Given the description of an element on the screen output the (x, y) to click on. 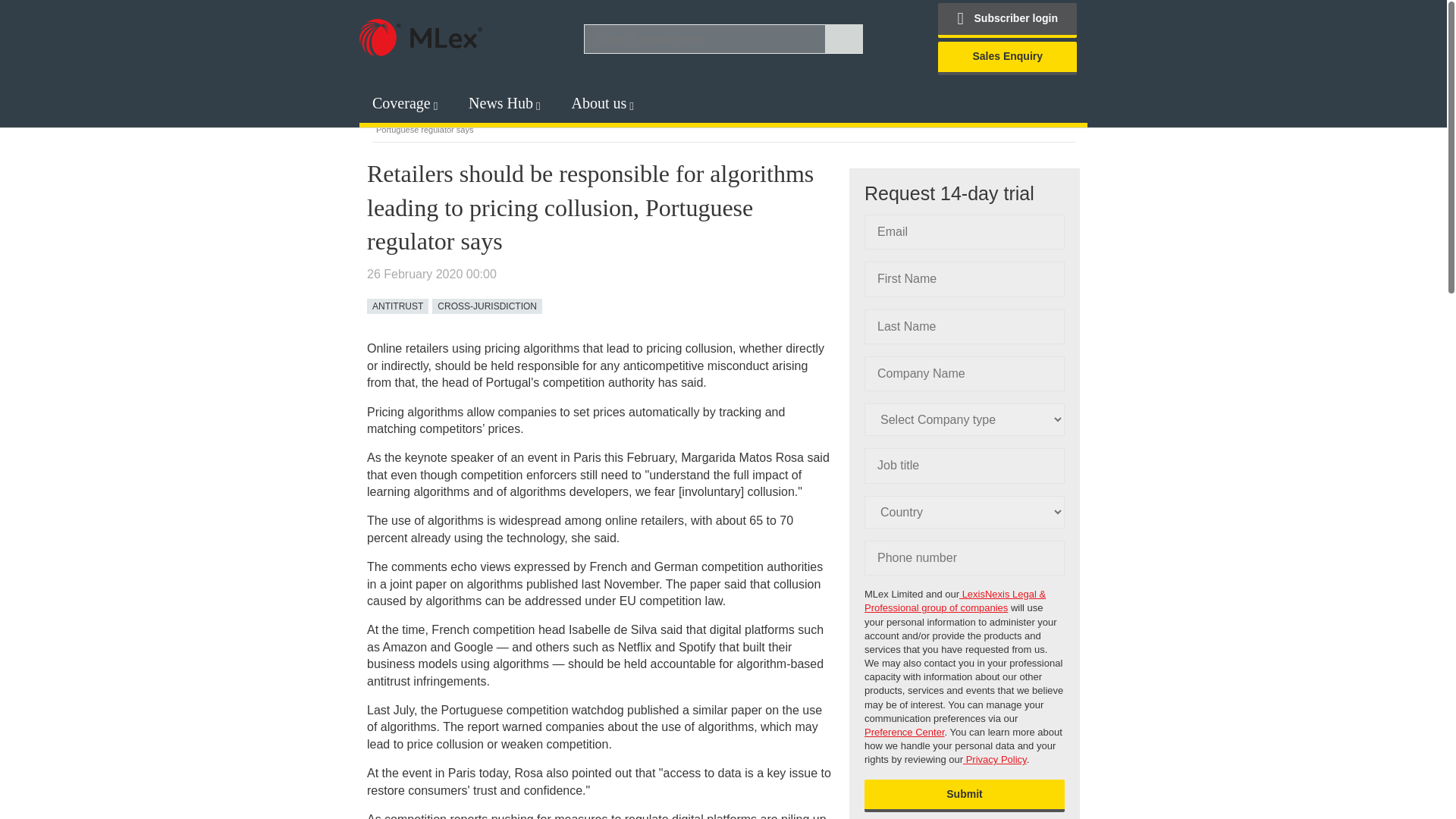
Search (844, 38)
News Hub (500, 103)
Submit (964, 796)
Subscriber login (1007, 20)
Search (844, 38)
Sales Enquiry (1007, 58)
Coverage (401, 103)
